Given the description of an element on the screen output the (x, y) to click on. 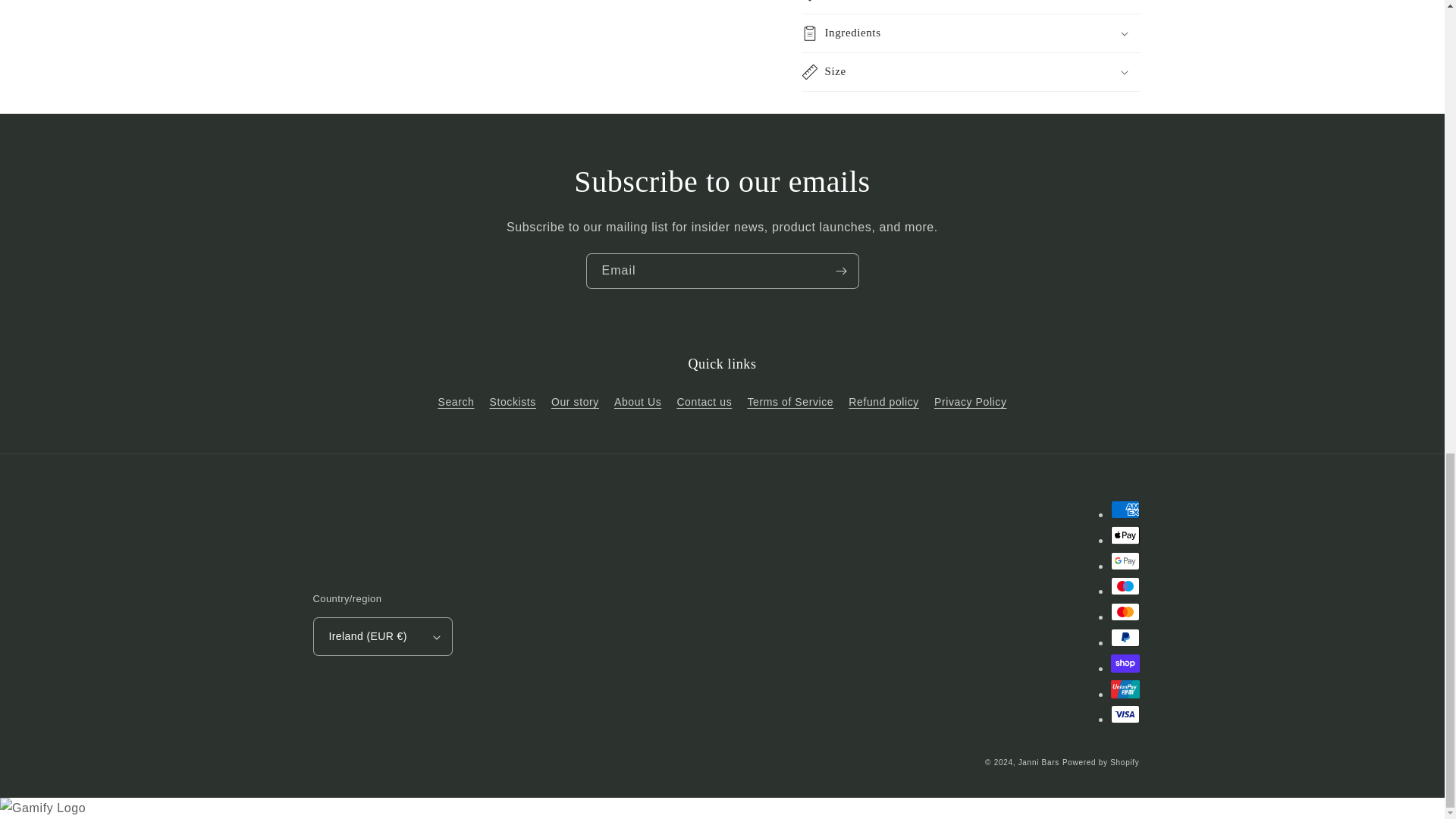
American Express (1123, 509)
